Given the description of an element on the screen output the (x, y) to click on. 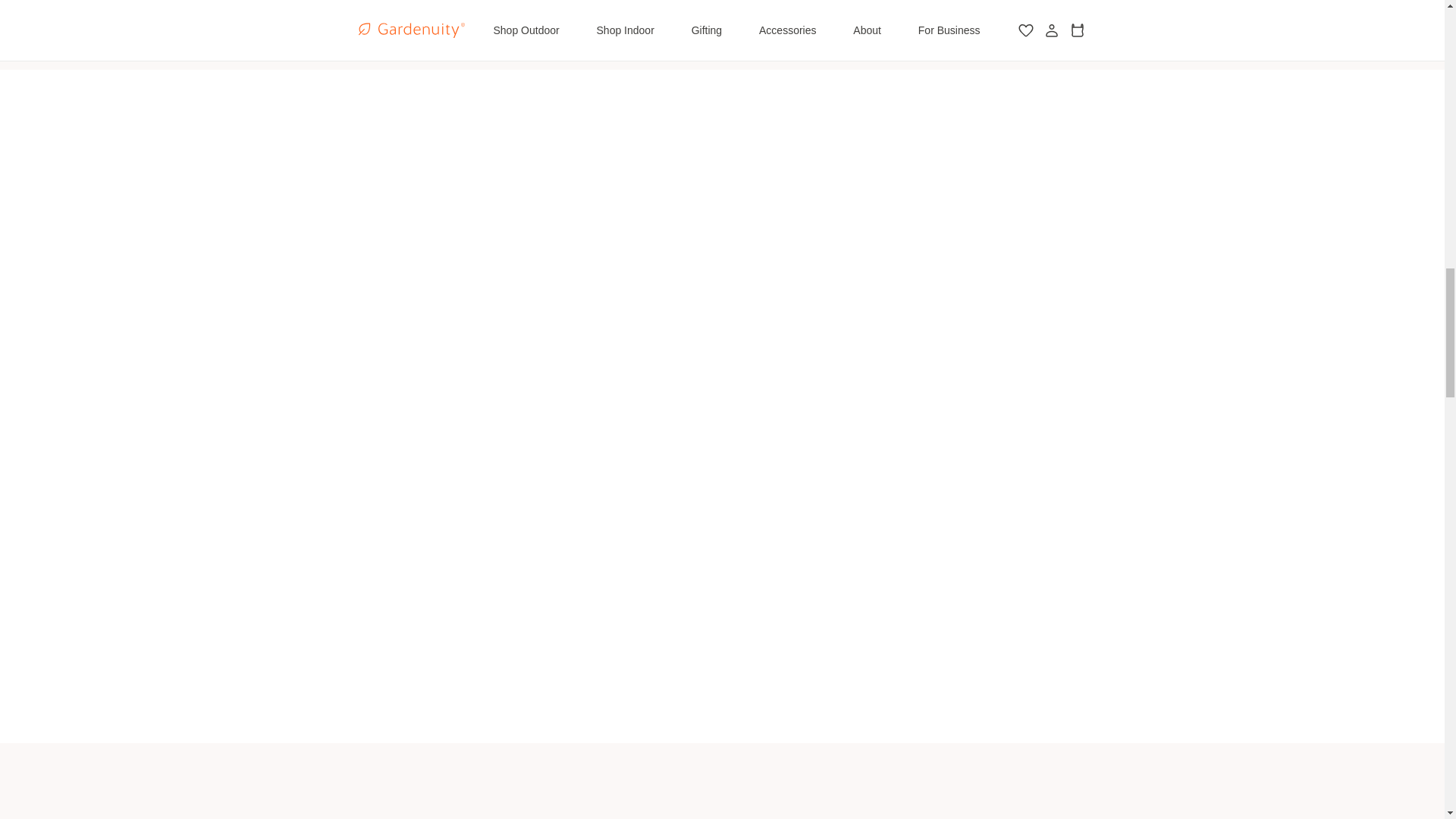
Learn More (509, 645)
See all FAQs (722, 10)
